Given the description of an element on the screen output the (x, y) to click on. 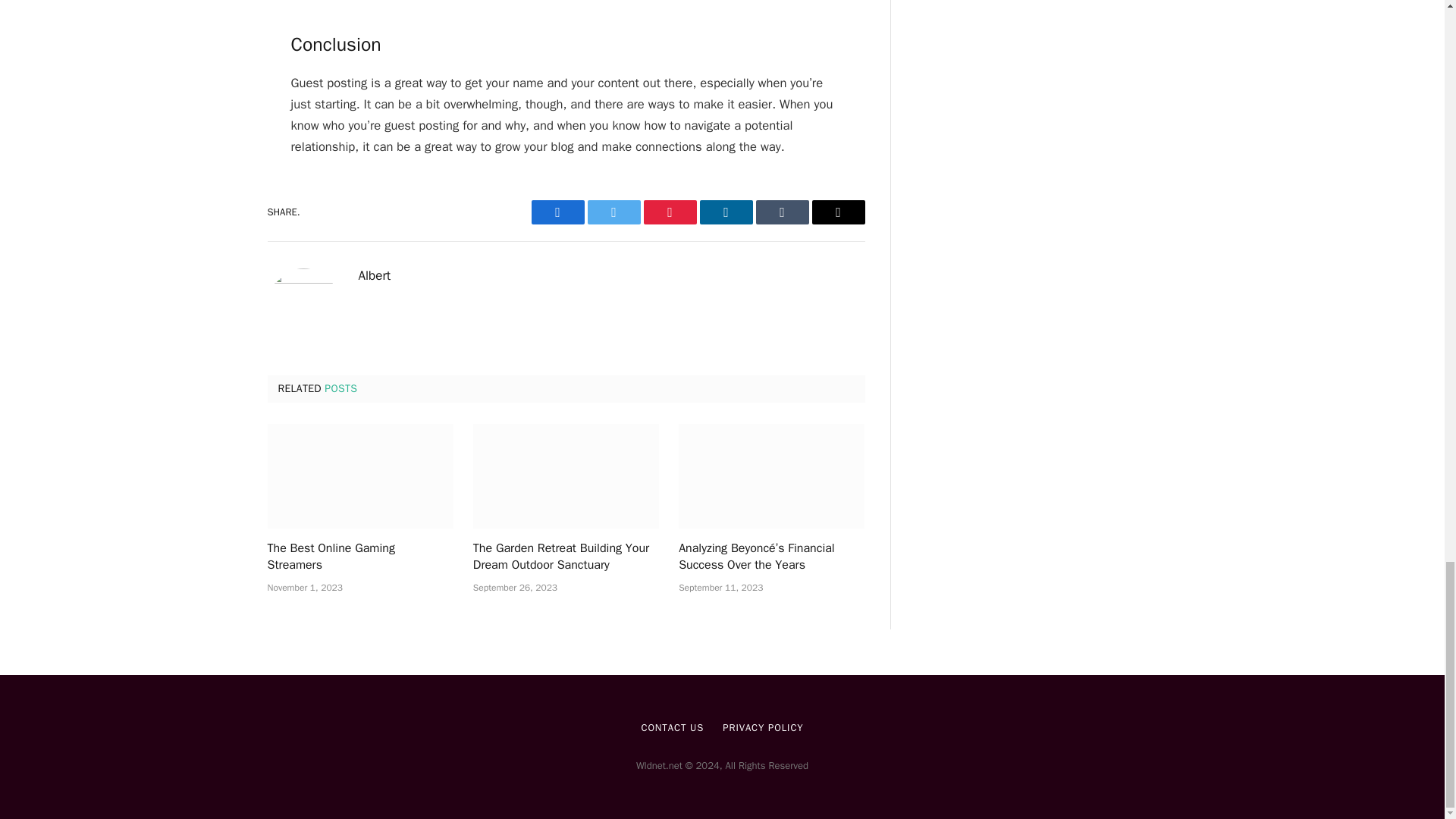
Pinterest (669, 211)
Twitter (613, 211)
Facebook (557, 211)
